Given the description of an element on the screen output the (x, y) to click on. 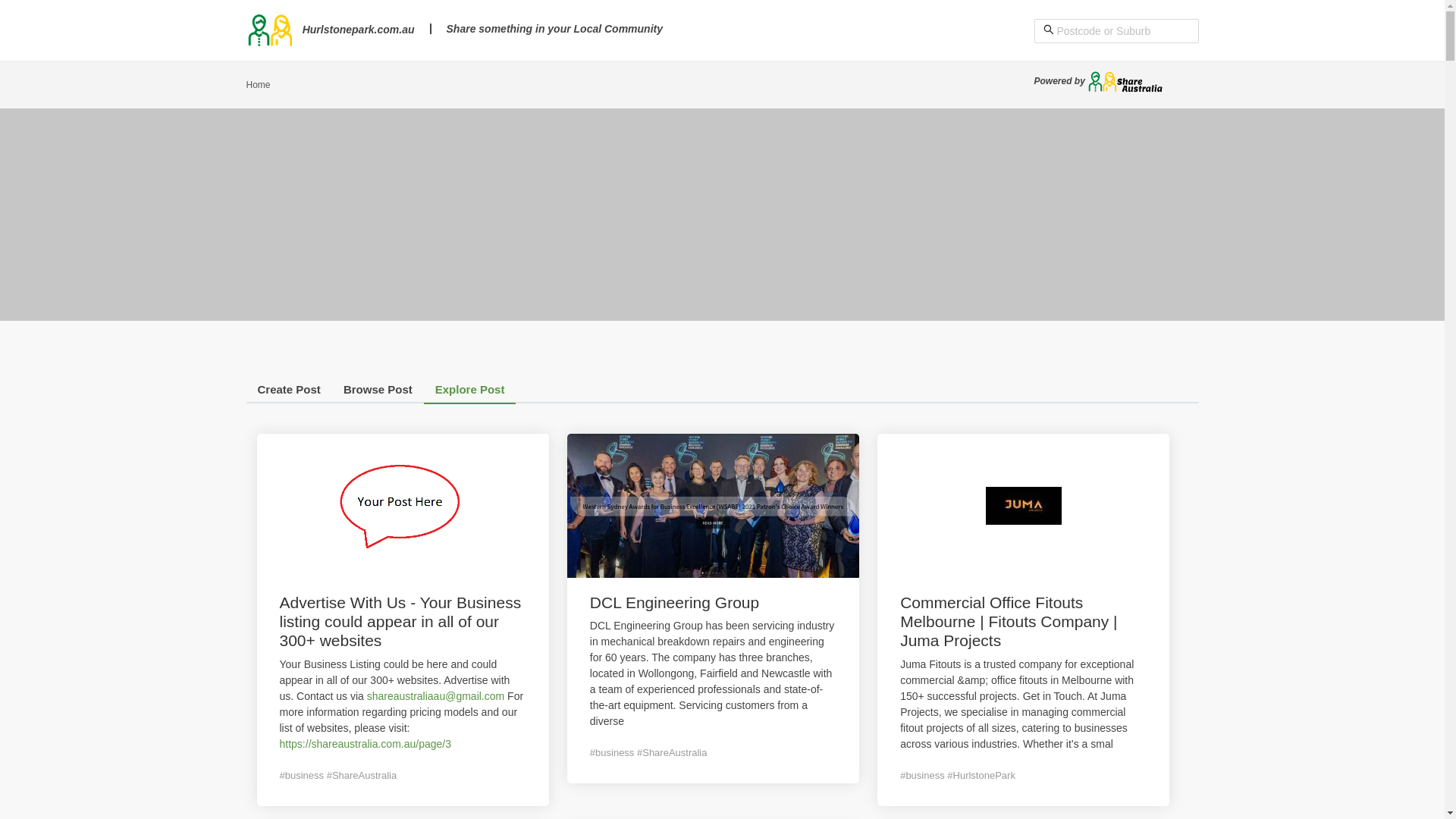
Powered by Element type: text (1099, 80)
Browse Post Element type: text (377, 392)
Hurlstonepark.com.au Element type: text (329, 29)
Advertisement Element type: hover (721, 214)
Explore Post Element type: text (469, 392)
DCL Engineering Group Element type: text (674, 602)
https://shareaustralia.com.au/page/3 Element type: text (364, 743)
shareaustraliaau@gmail.com Element type: text (437, 696)
Create Post Element type: text (288, 392)
